Given the description of an element on the screen output the (x, y) to click on. 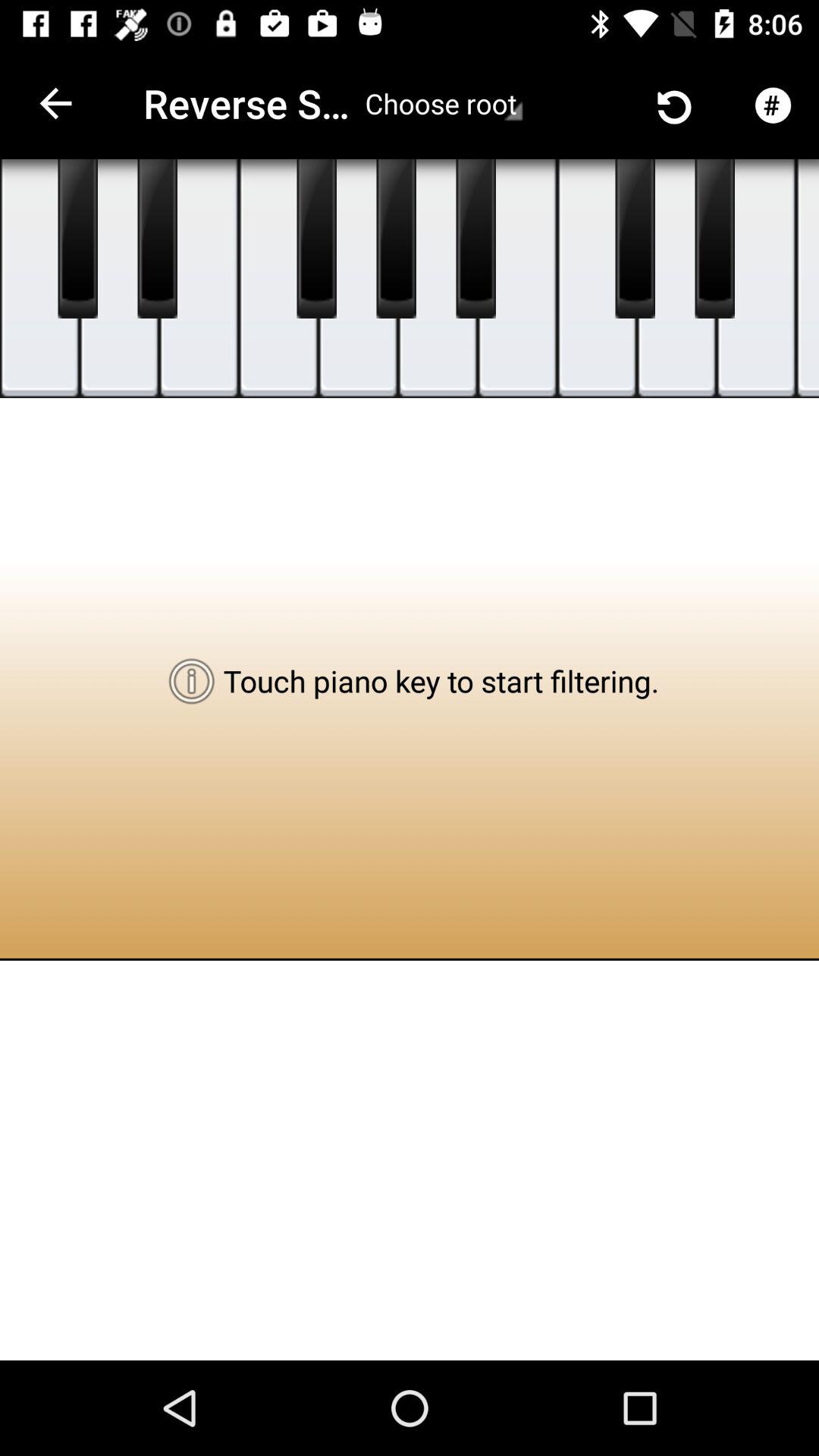
pressing this plays a simulation of that note on a piano (475, 238)
